Given the description of an element on the screen output the (x, y) to click on. 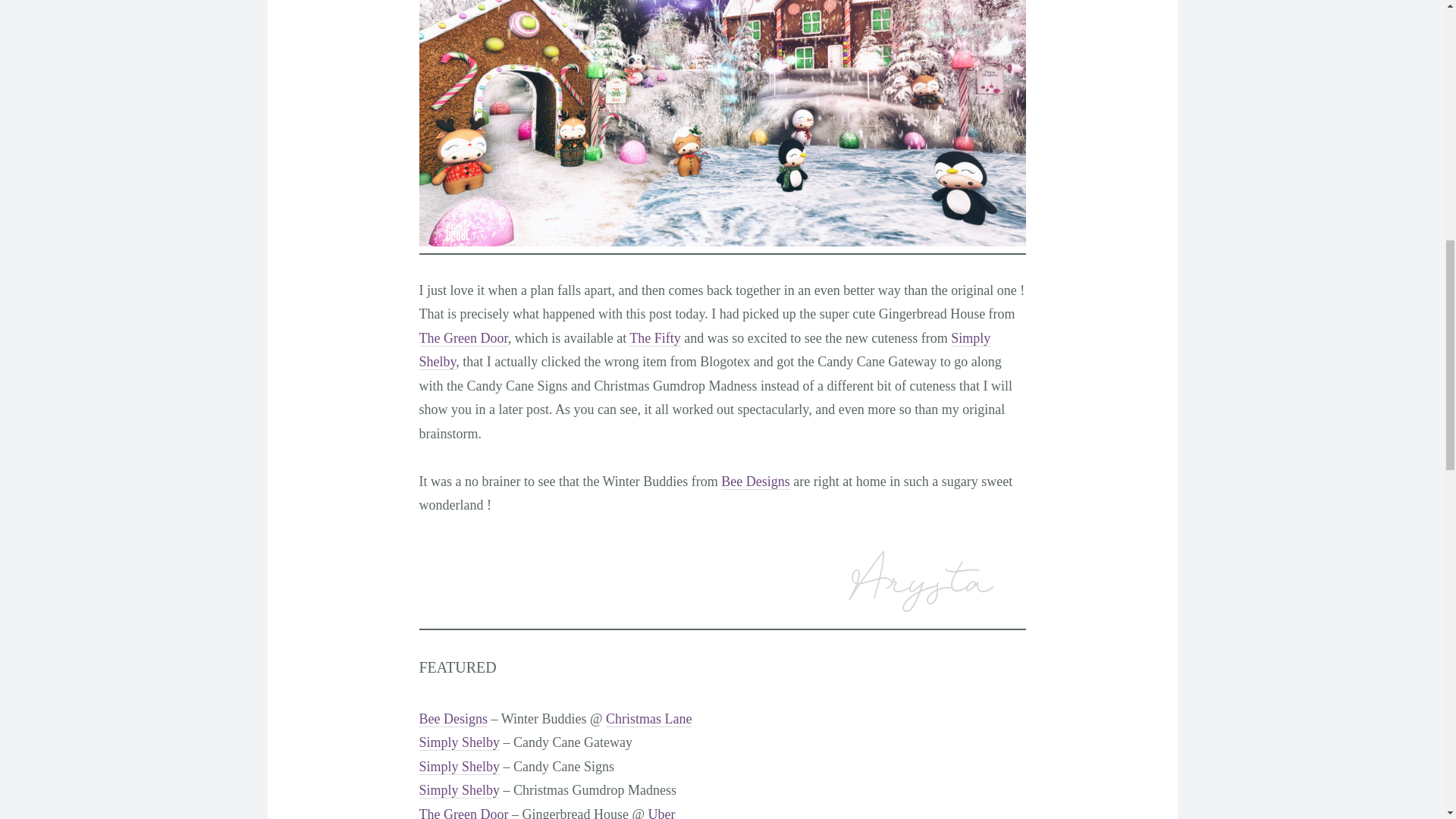
The Green Door (463, 812)
Simply Shelby (459, 766)
Uber (661, 812)
Simply Shelby (704, 350)
The Fifty (654, 338)
Bee Designs (754, 481)
Bee Designs (452, 719)
Simply Shelby (459, 790)
Christmas Lane (648, 719)
The Green Door (462, 338)
Simply Shelby (459, 742)
